Given the description of an element on the screen output the (x, y) to click on. 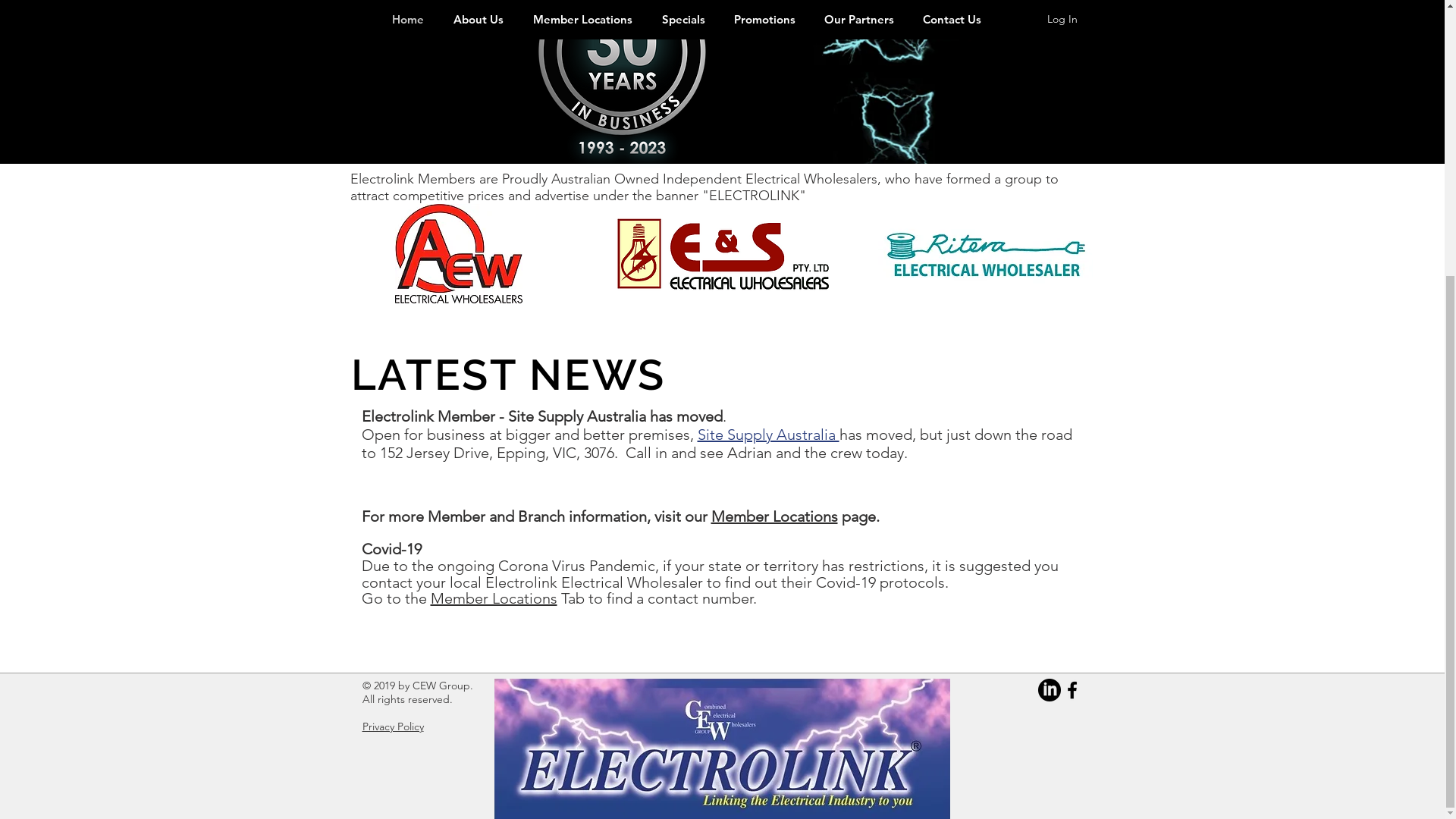
Our Partners Element type: text (858, 427)
Promotions Element type: text (763, 427)
Home Element type: text (408, 427)
Member Locations Element type: text (582, 427)
Specials Element type: text (683, 427)
Contact Us Element type: text (951, 427)
About Us Element type: text (477, 427)
Log In Element type: text (1061, 427)
